Given the description of an element on the screen output the (x, y) to click on. 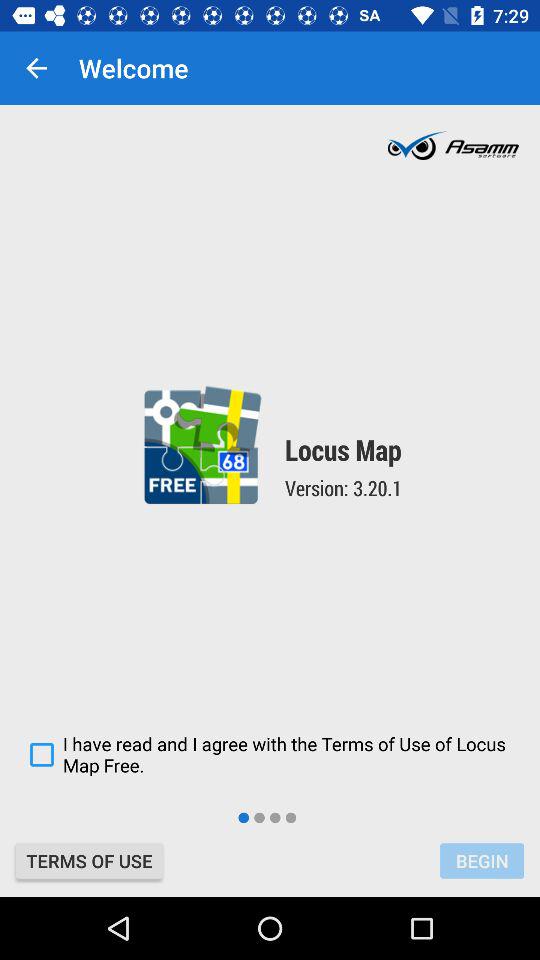
click the i have read (270, 754)
